Given the description of an element on the screen output the (x, y) to click on. 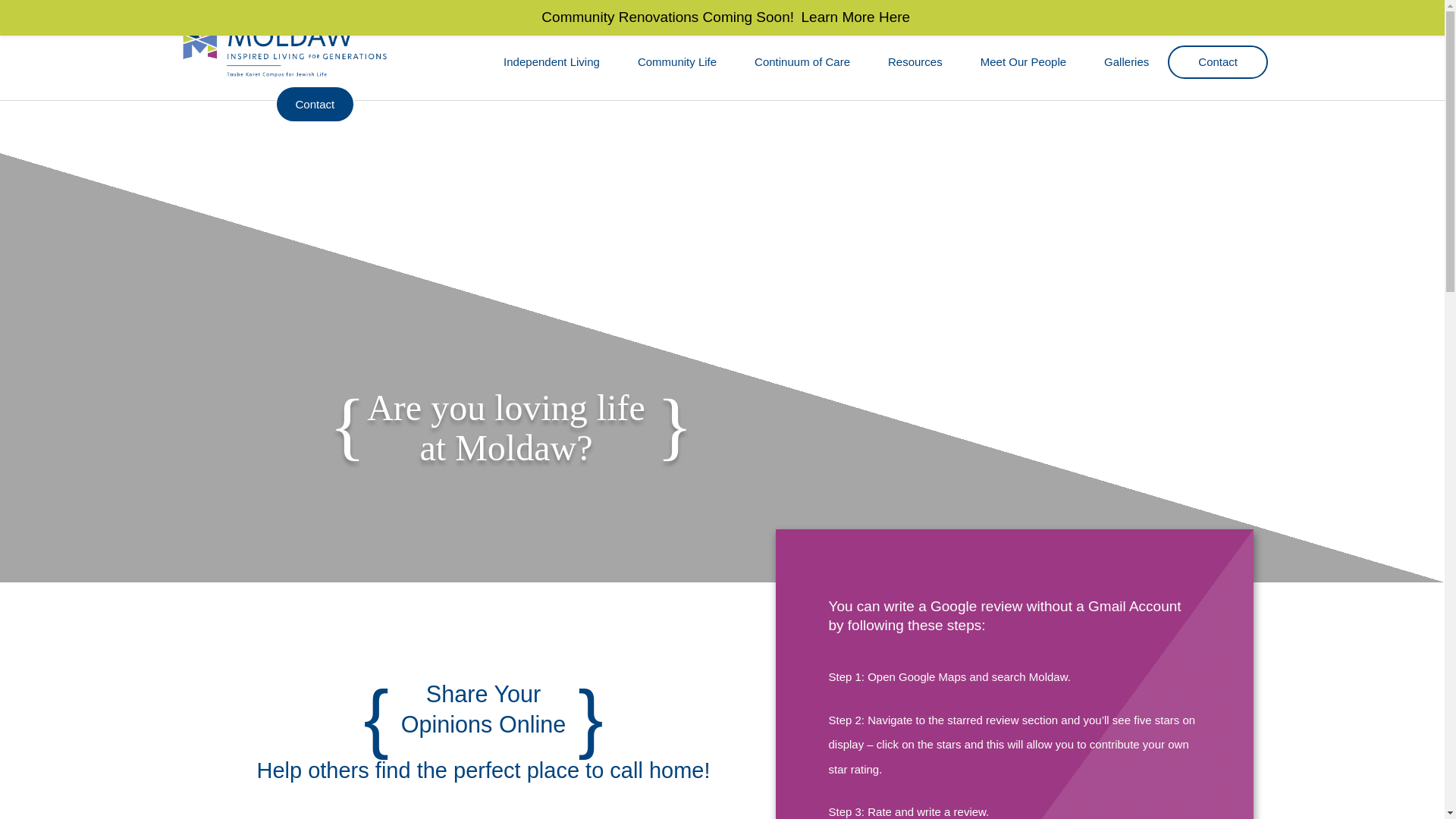
Resident Portal (916, 19)
Resources (914, 61)
Donate (1036, 19)
Independent Living (551, 61)
Events (840, 19)
Renovations (772, 19)
Continuum of Care (802, 61)
Careers (1095, 19)
Community Life (676, 61)
Blog (986, 19)
